Given the description of an element on the screen output the (x, y) to click on. 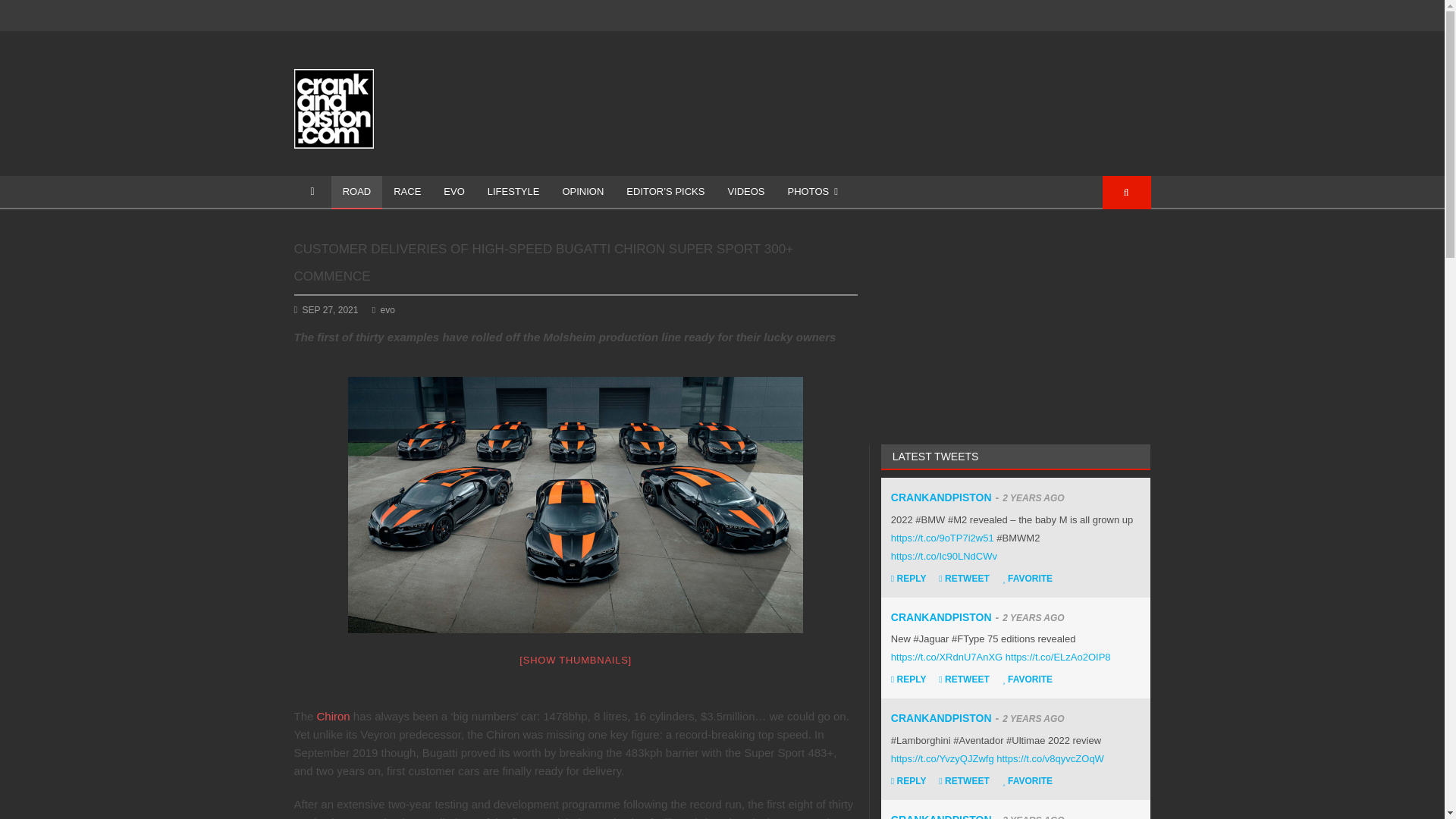
On The Road (356, 192)
RACE (406, 192)
LIFESTYLE (513, 192)
Monday, September 27, 2021, 10:13 am (330, 309)
PHOTOS (812, 192)
OPINION (582, 192)
evo (383, 309)
EVO (454, 192)
ROAD (356, 192)
VIDEOS (746, 192)
